Given the description of an element on the screen output the (x, y) to click on. 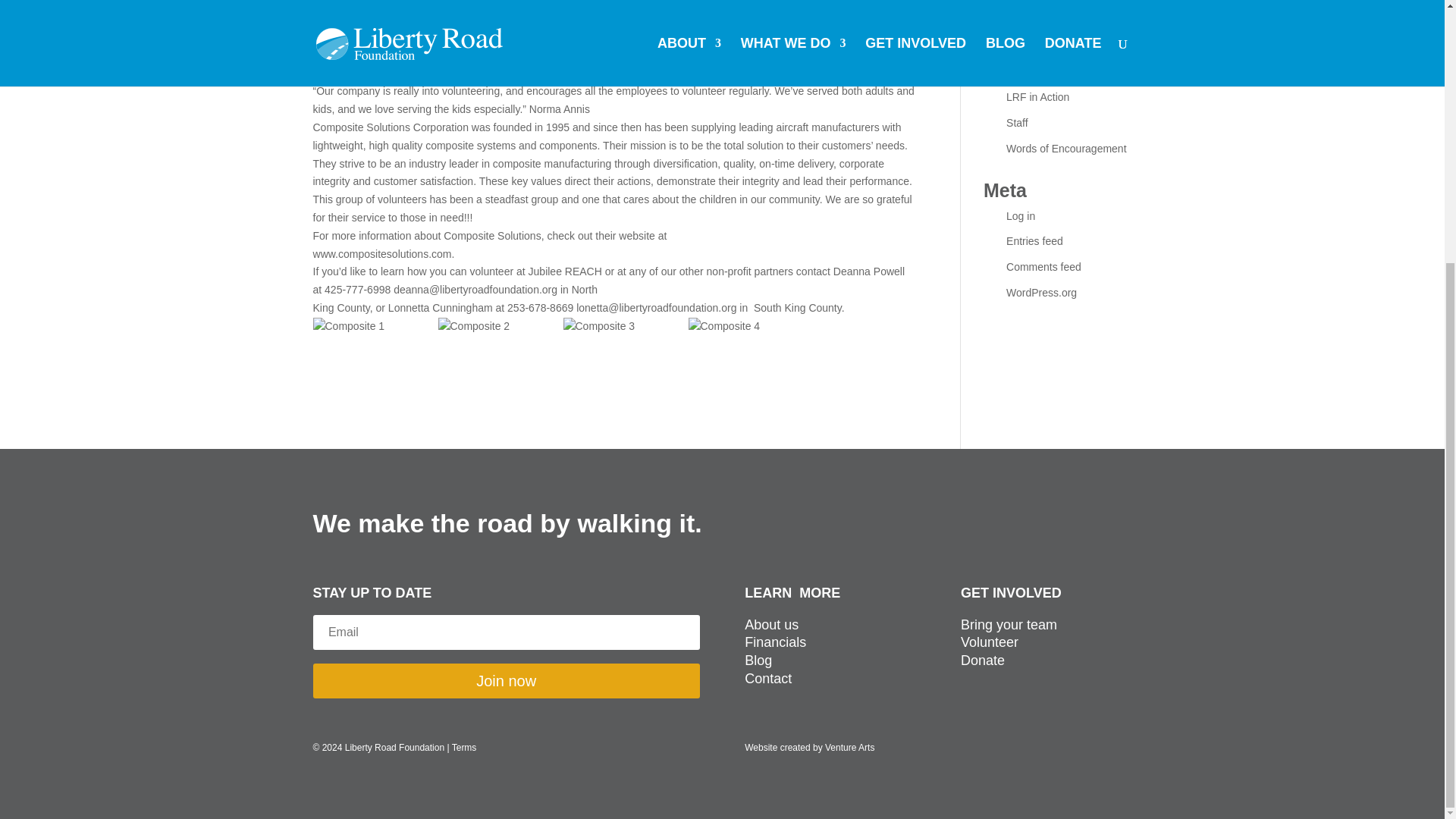
libertyroad1 (367, 2)
Posts by libertyroad1 (367, 2)
Faith Matters (1037, 46)
LRF in Action (537, 2)
